Given the description of an element on the screen output the (x, y) to click on. 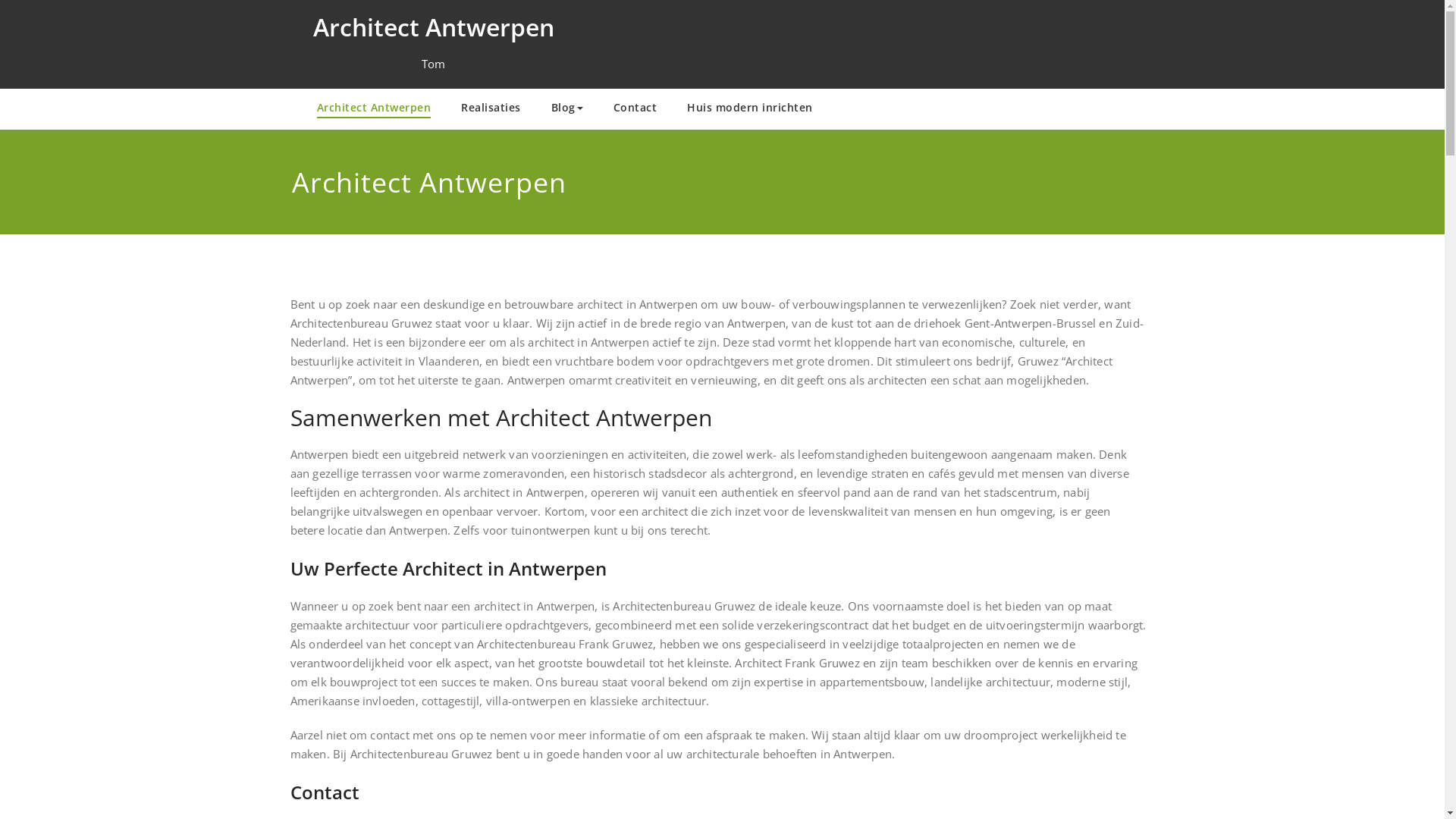
Contact Element type: text (634, 108)
Realisaties Element type: text (490, 108)
Architect Antwerpen Element type: text (373, 108)
Huis modern inrichten Element type: text (749, 108)
Architect Antwerpen Element type: text (432, 27)
Blog Element type: text (566, 108)
